Given the description of an element on the screen output the (x, y) to click on. 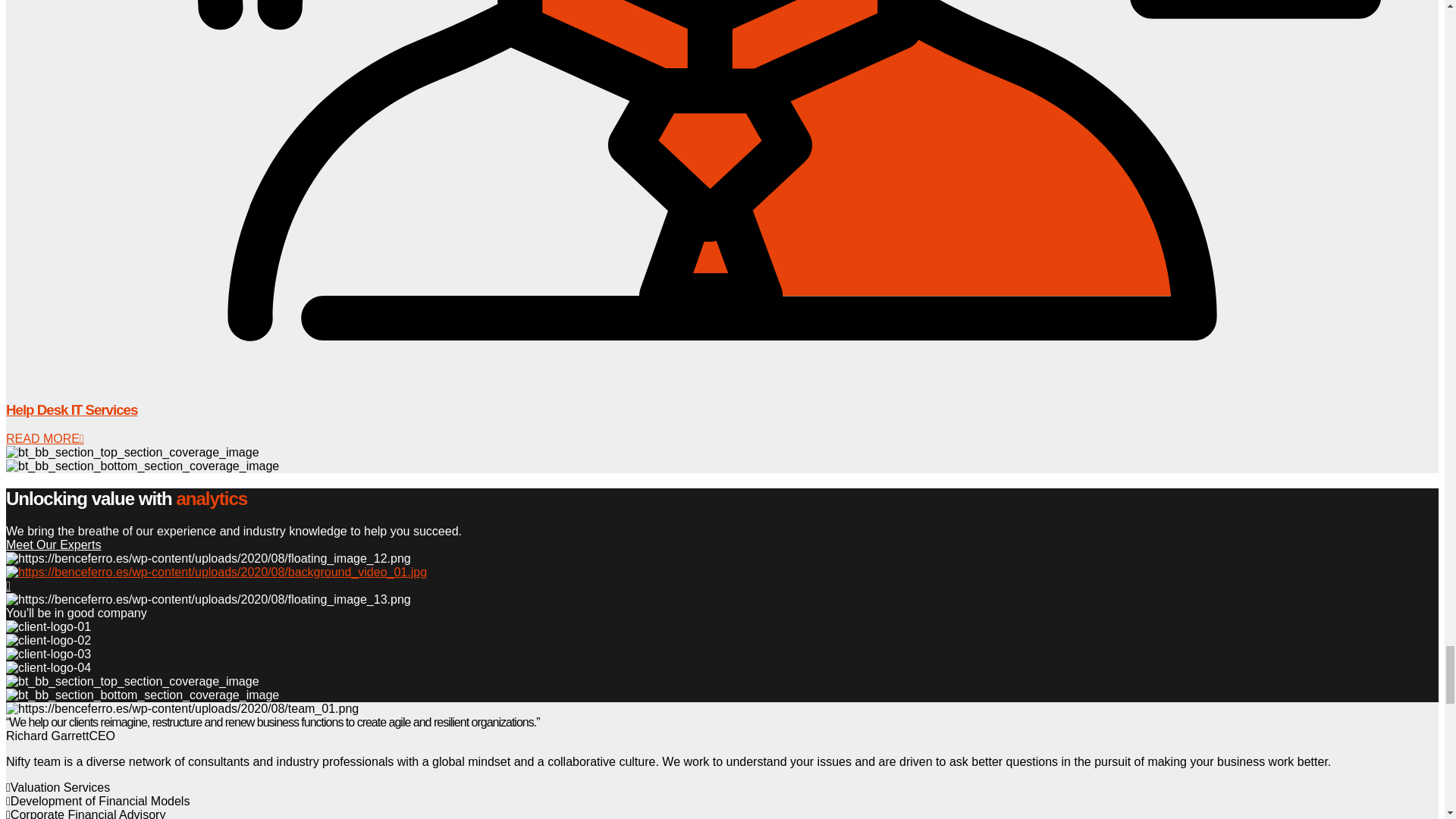
READ MORE (44, 438)
Help Desk IT Services (70, 409)
Meet Our Experts (52, 544)
